Given the description of an element on the screen output the (x, y) to click on. 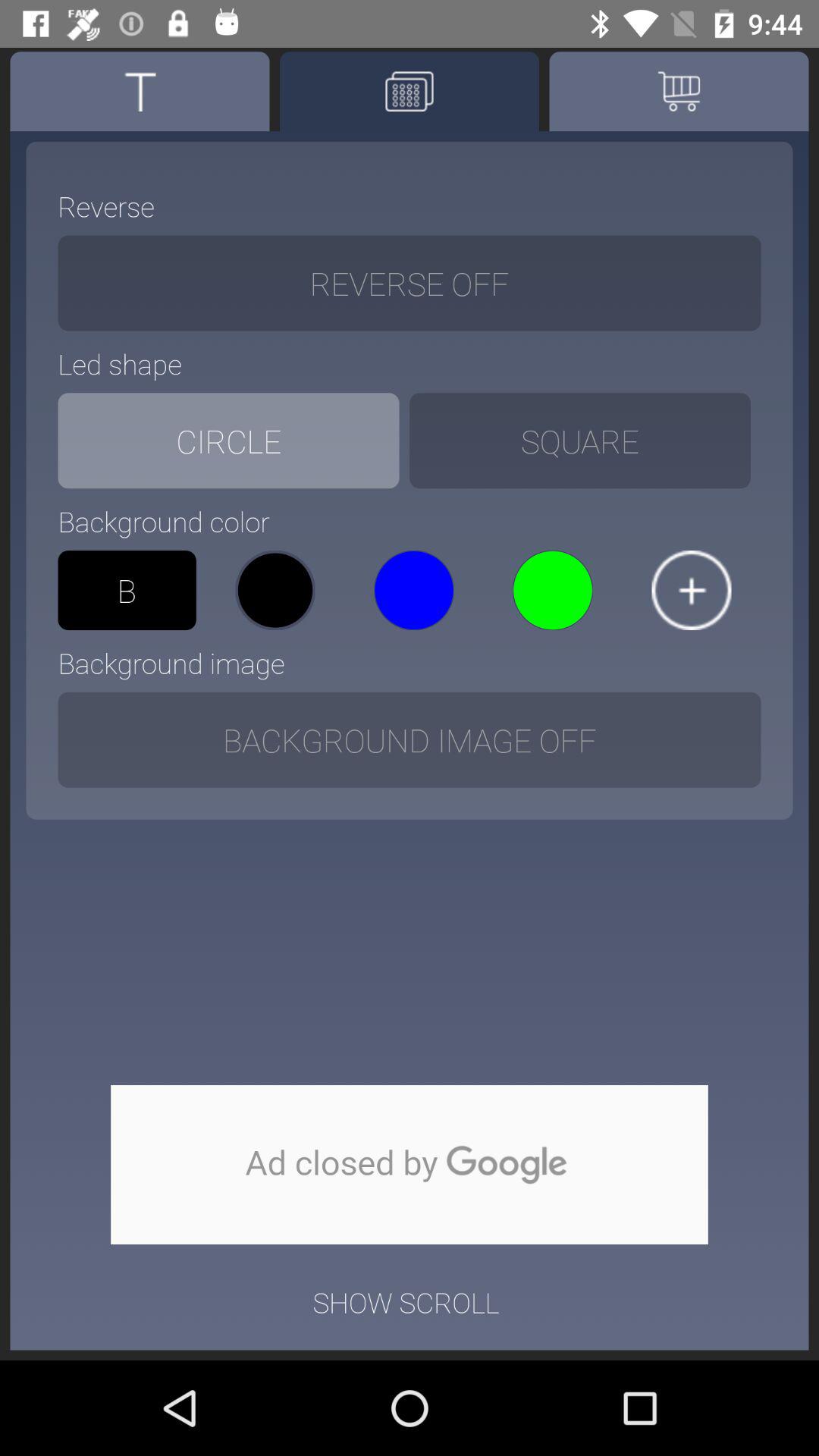
select print (409, 91)
